Given the description of an element on the screen output the (x, y) to click on. 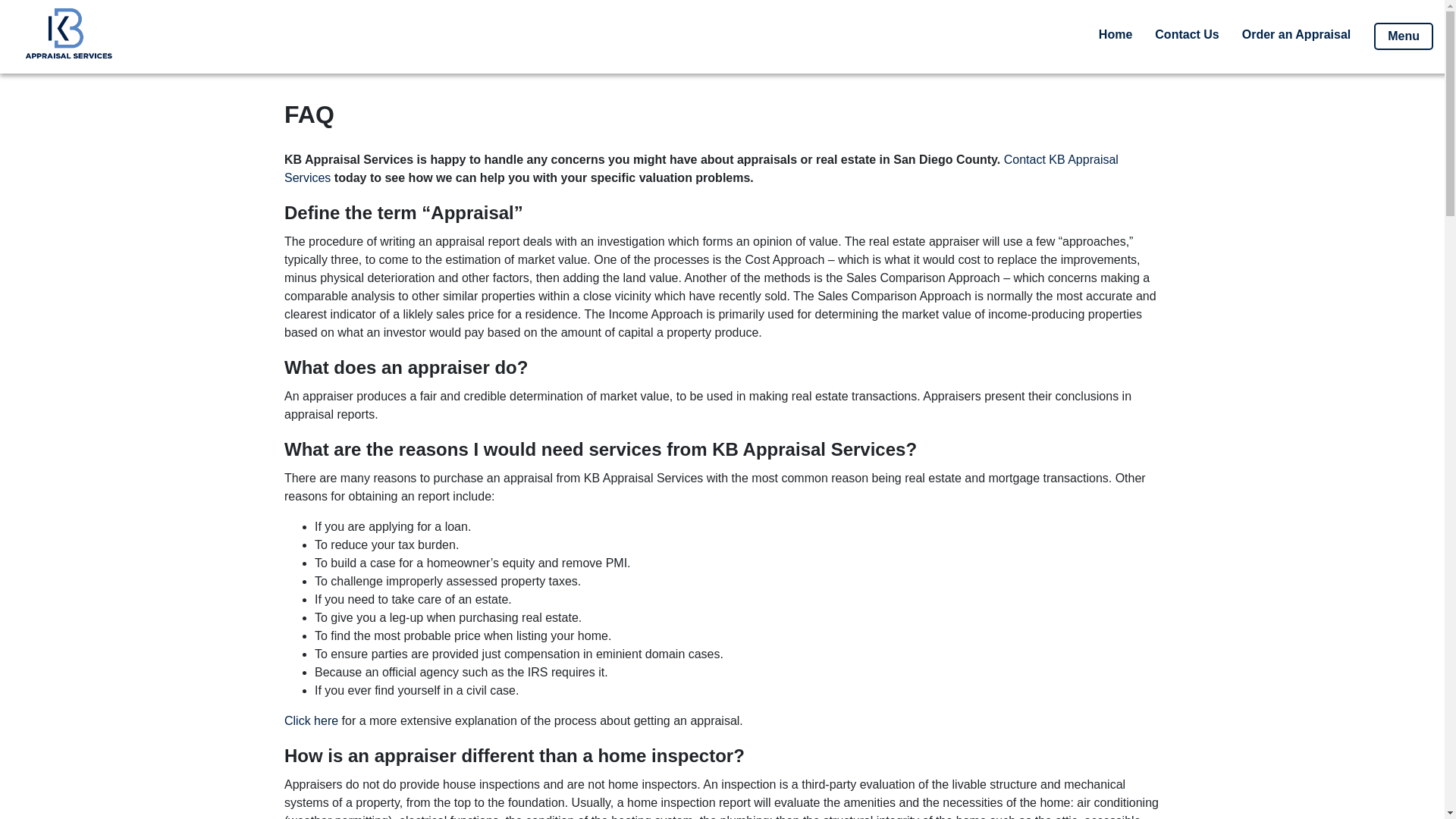
Contact KB Appraisal Services (700, 168)
Contact Us (1186, 35)
Menu (1403, 35)
Home (1114, 35)
Click here (310, 720)
Order an Appraisal (1295, 35)
